Given the description of an element on the screen output the (x, y) to click on. 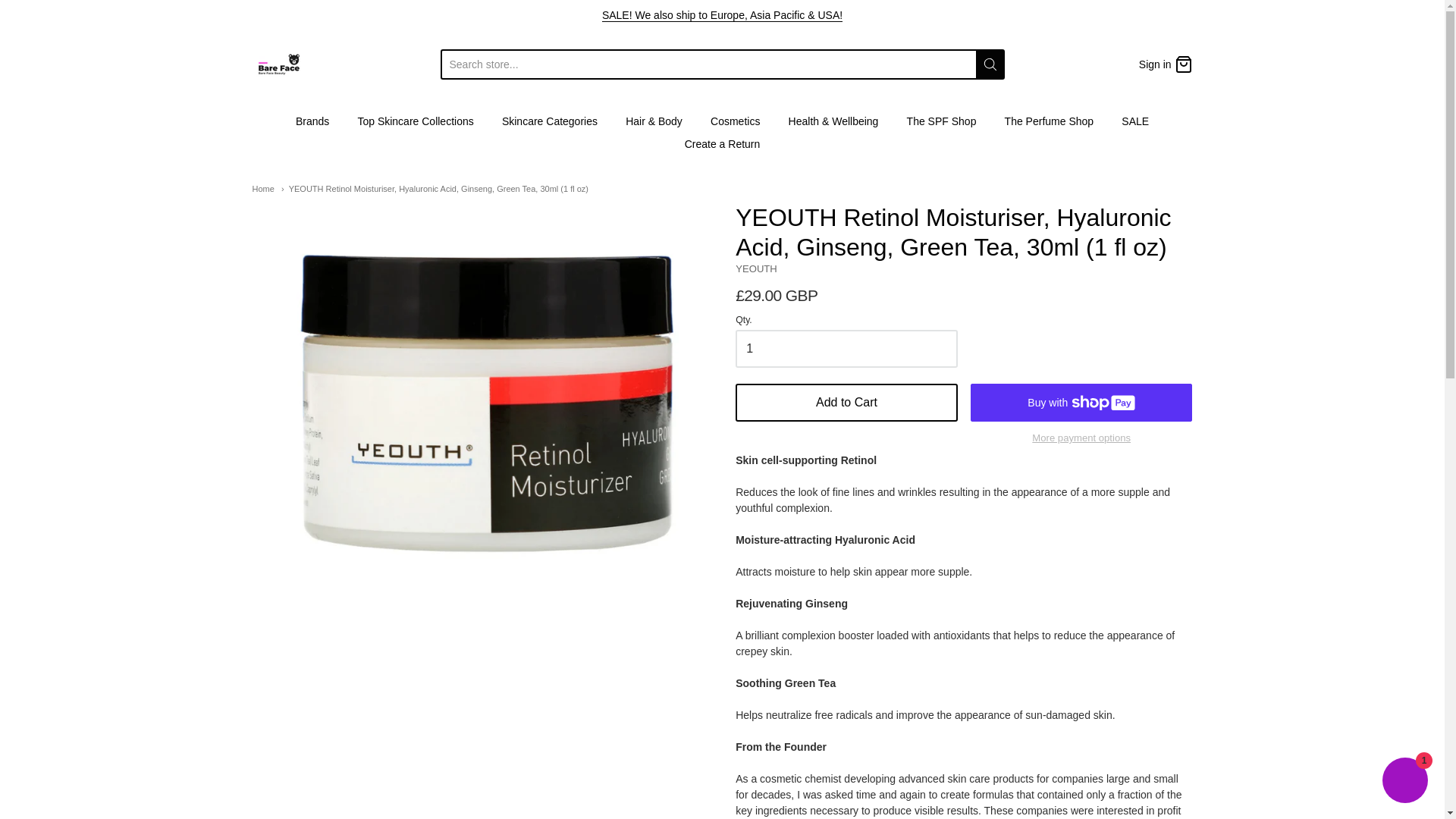
Home (262, 188)
1 (846, 348)
YEOUTH (756, 268)
Bare Face Beauty (277, 63)
Shopify online store chat (1404, 781)
SALE (722, 15)
